Given the description of an element on the screen output the (x, y) to click on. 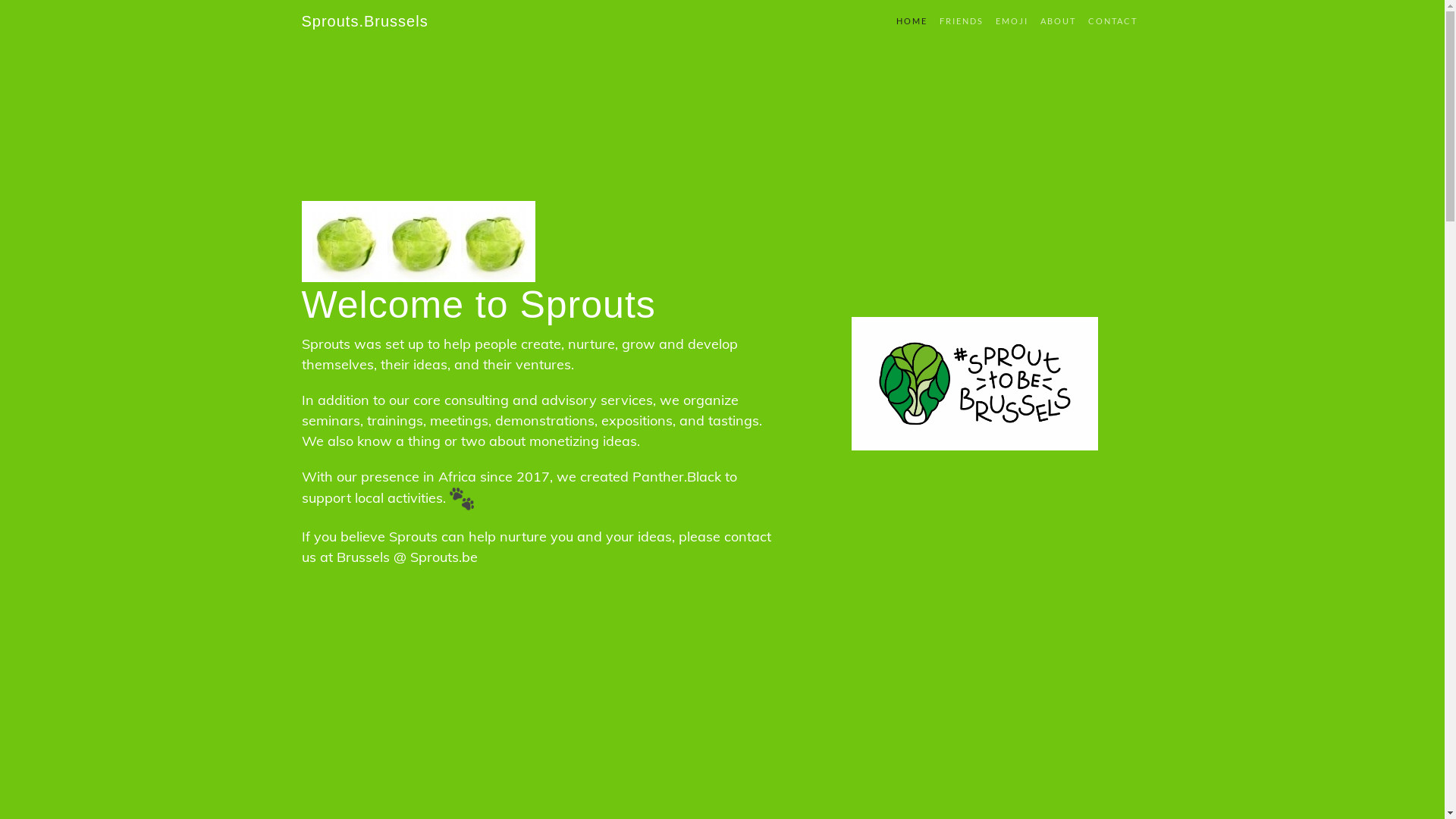
Sprouts.Brussels Element type: text (364, 21)
FRIENDS Element type: text (960, 21)
HOME Element type: text (911, 21)
ABOUT Element type: text (1058, 21)
EMOJI Element type: text (1010, 21)
CONTACT Element type: text (1111, 21)
